Given the description of an element on the screen output the (x, y) to click on. 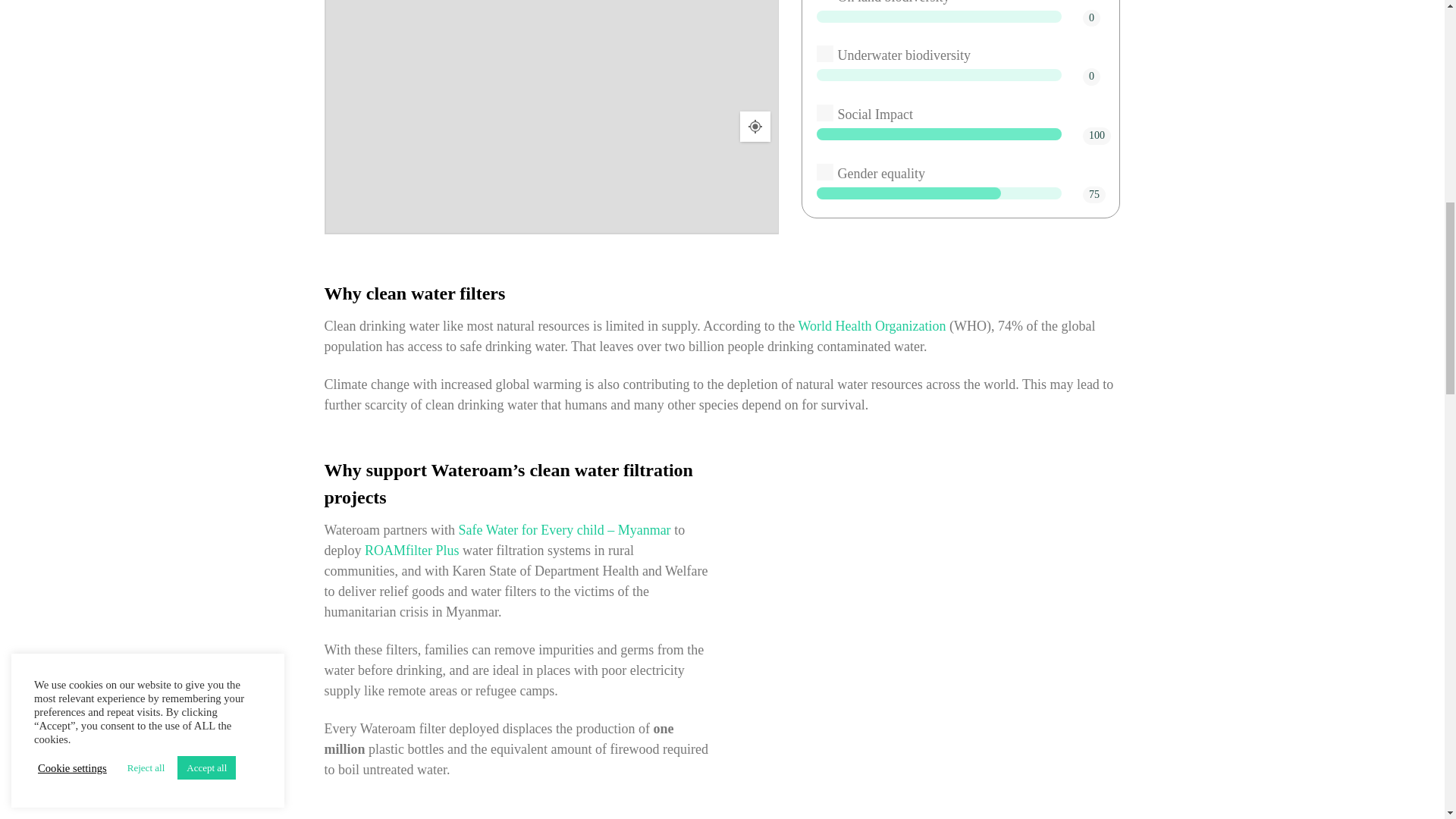
Underwater biodiversity (824, 53)
World Health Organization (870, 325)
Gender equality (824, 171)
Social Impact (824, 112)
ROAMfilter Plus (412, 549)
On land biodiversity (824, 2)
